Given the description of an element on the screen output the (x, y) to click on. 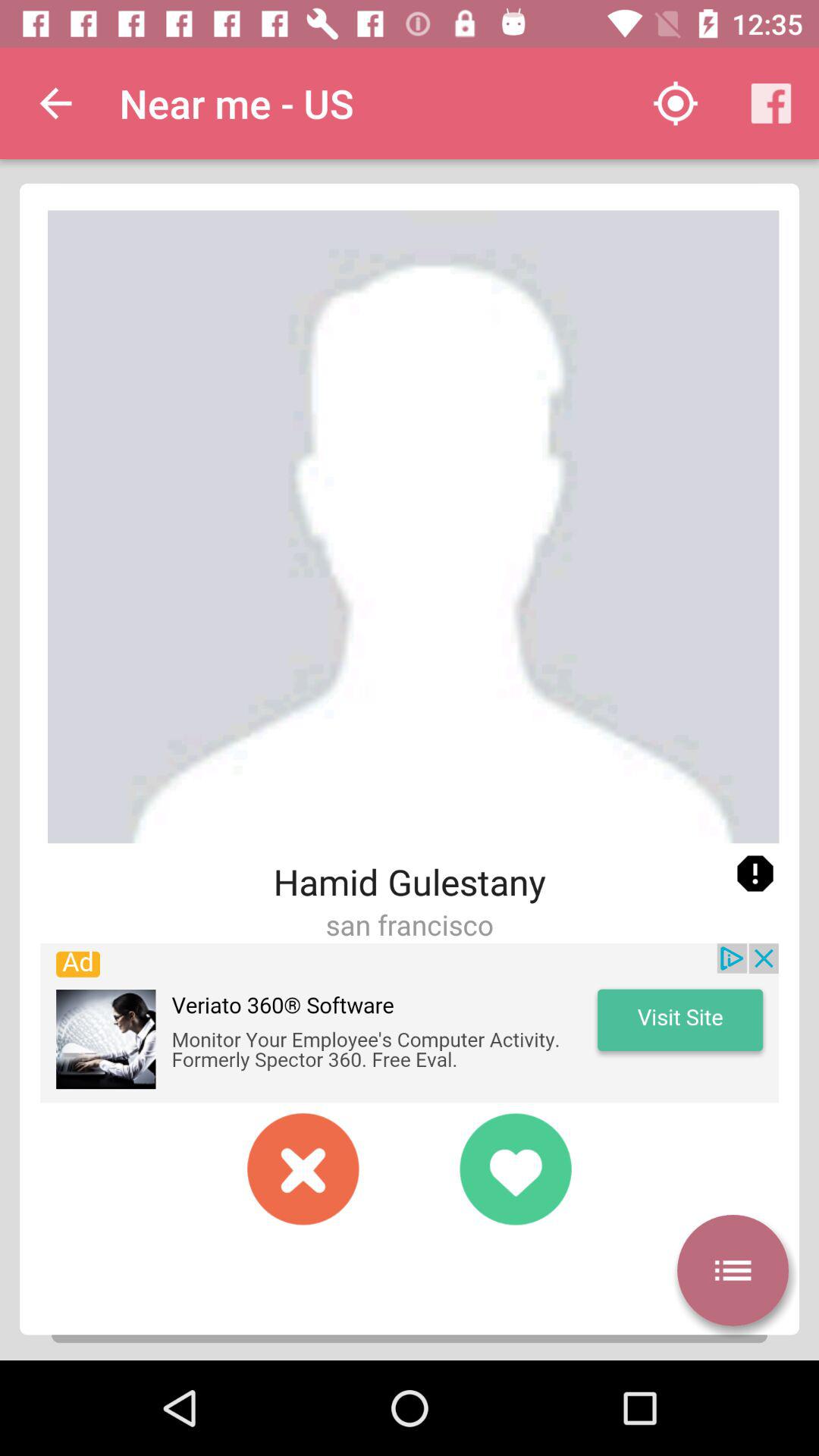
it and pop up advertisement (409, 1022)
